Given the description of an element on the screen output the (x, y) to click on. 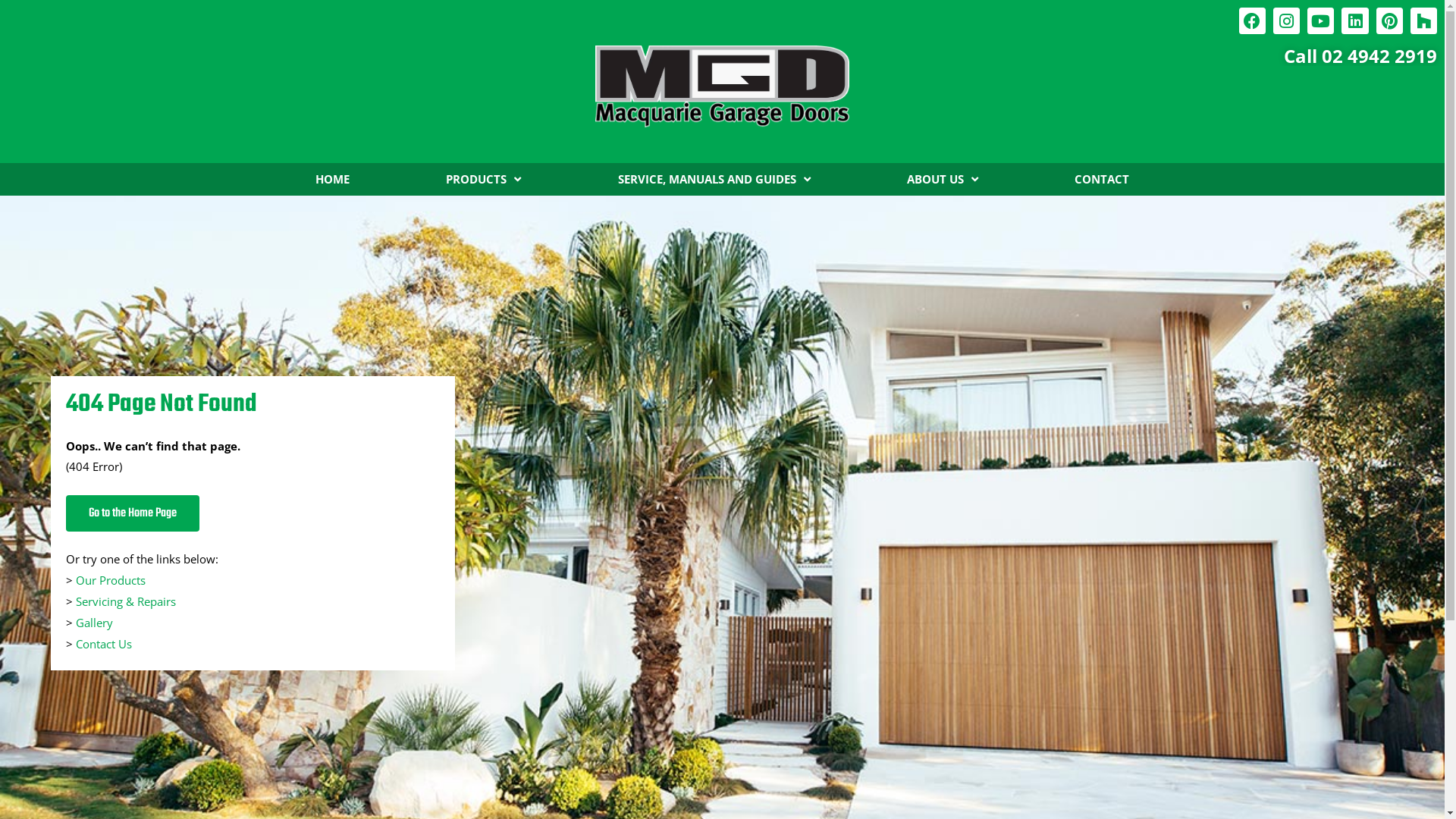
ABOUT US Element type: text (942, 178)
Call 02 4942 2919 Element type: text (1360, 55)
Gallery Element type: text (93, 622)
PRODUCTS Element type: text (483, 178)
Contact Us Element type: text (103, 643)
HOME Element type: text (332, 178)
Go to the Home Page Element type: text (132, 513)
Servicing & Repairs Element type: text (125, 600)
Our Products Element type: text (110, 579)
CONTACT Element type: text (1101, 178)
SERVICE, MANUALS AND GUIDES Element type: text (713, 178)
